Given the description of an element on the screen output the (x, y) to click on. 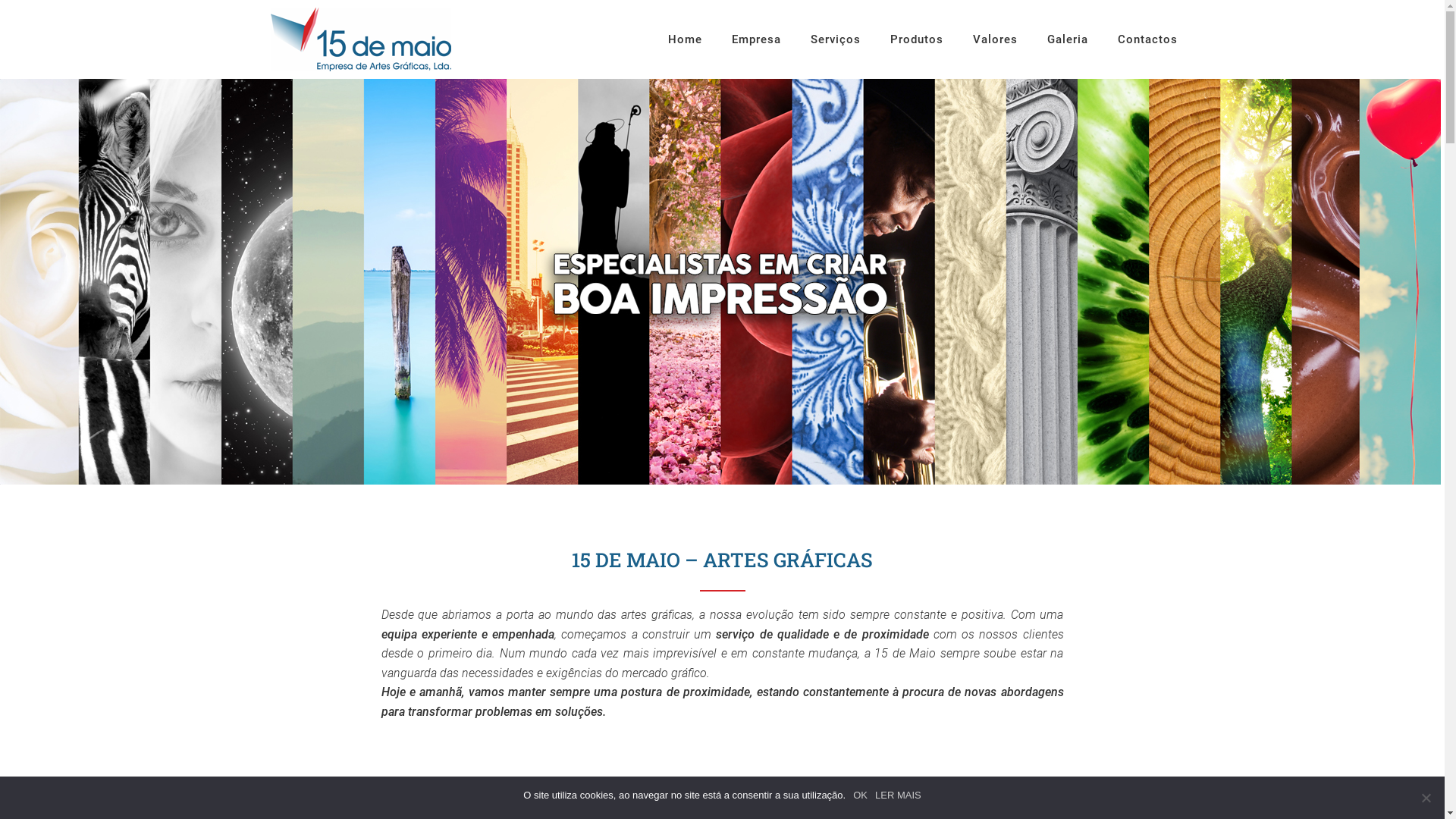
OK Element type: text (860, 795)
Valores Element type: text (994, 56)
banner_mb Element type: hover (720, 281)
Produtos Element type: text (916, 56)
Empresa Element type: text (755, 56)
LER MAIS Element type: text (898, 795)
Contactos Element type: text (1147, 56)
Galeria Element type: text (1066, 56)
Home Element type: text (684, 56)
